Given the description of an element on the screen output the (x, y) to click on. 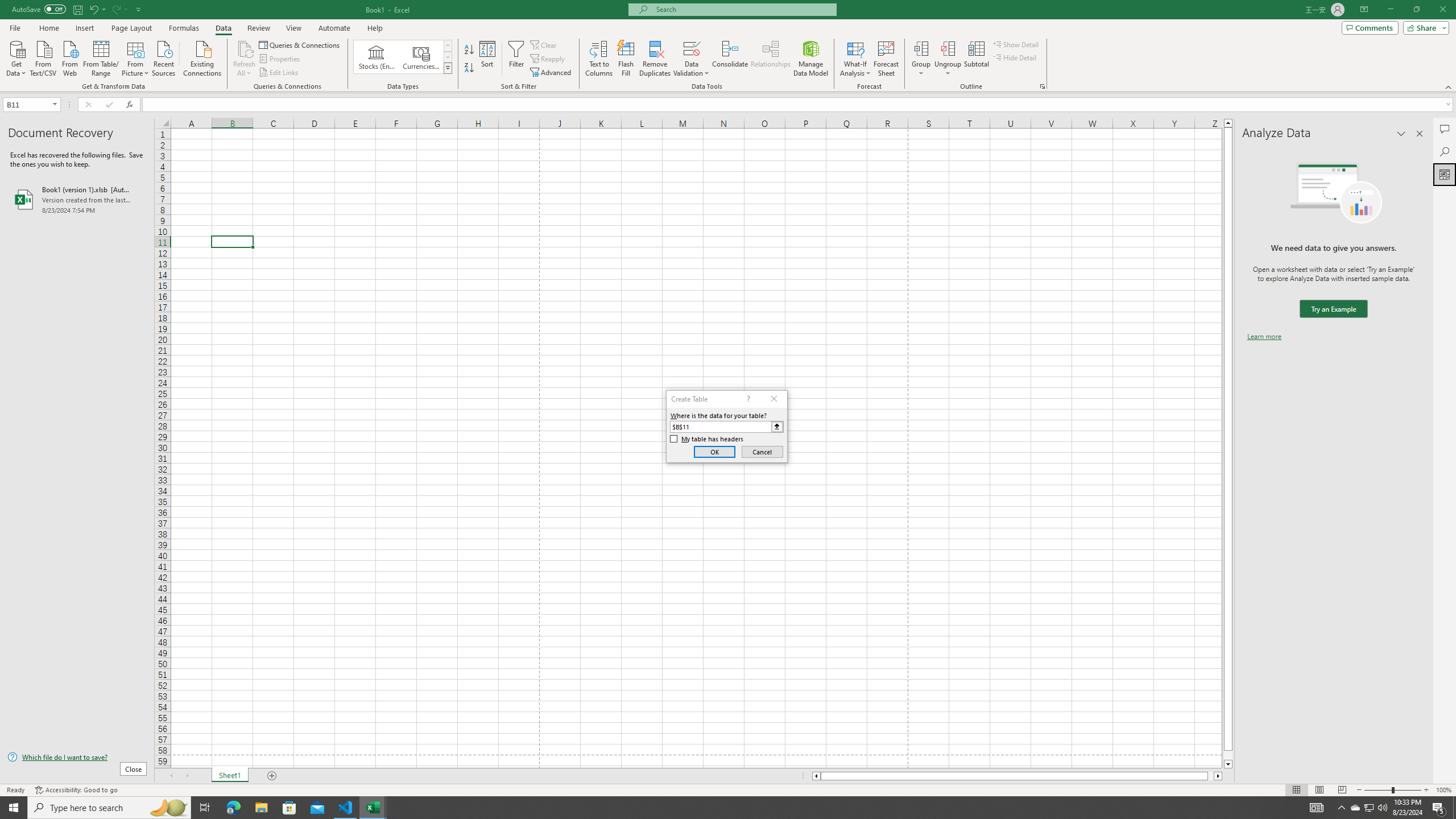
Get Data (16, 57)
Currencies (English) (420, 56)
Sort A to Z (469, 49)
Hide Detail (1014, 56)
From Web (69, 57)
Flash Fill (625, 58)
Subtotal (976, 58)
Remove Duplicates (654, 58)
